Given the description of an element on the screen output the (x, y) to click on. 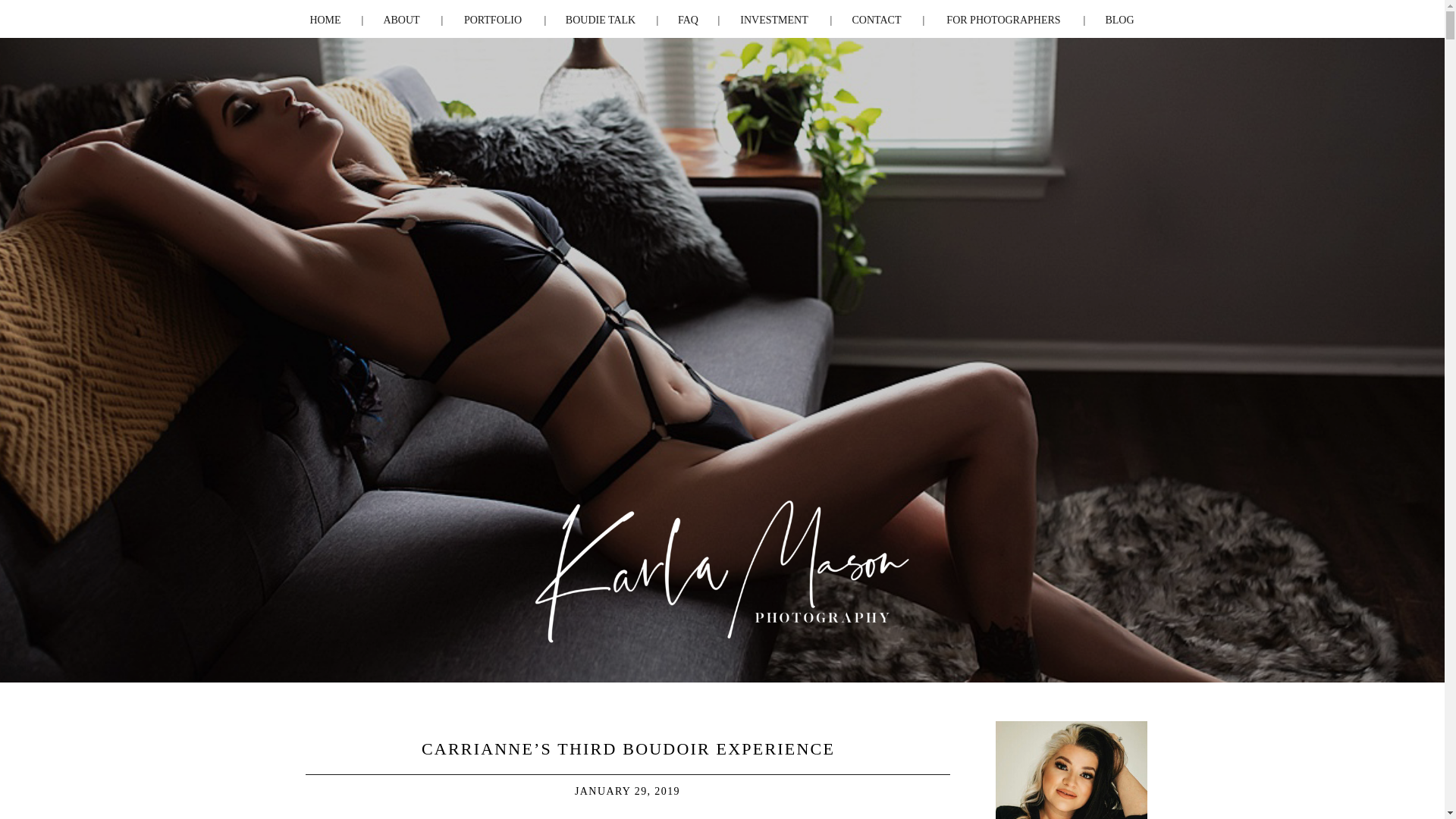
FOR PHOTOGRAPHERS (1002, 18)
HOME (324, 18)
CONTACT (876, 18)
INVESTMENT (773, 18)
BLOG (1119, 18)
PORTFOLIO (493, 18)
ABOUT (401, 18)
BOUDIE TALK (599, 18)
FAQ (688, 18)
